Given the description of an element on the screen output the (x, y) to click on. 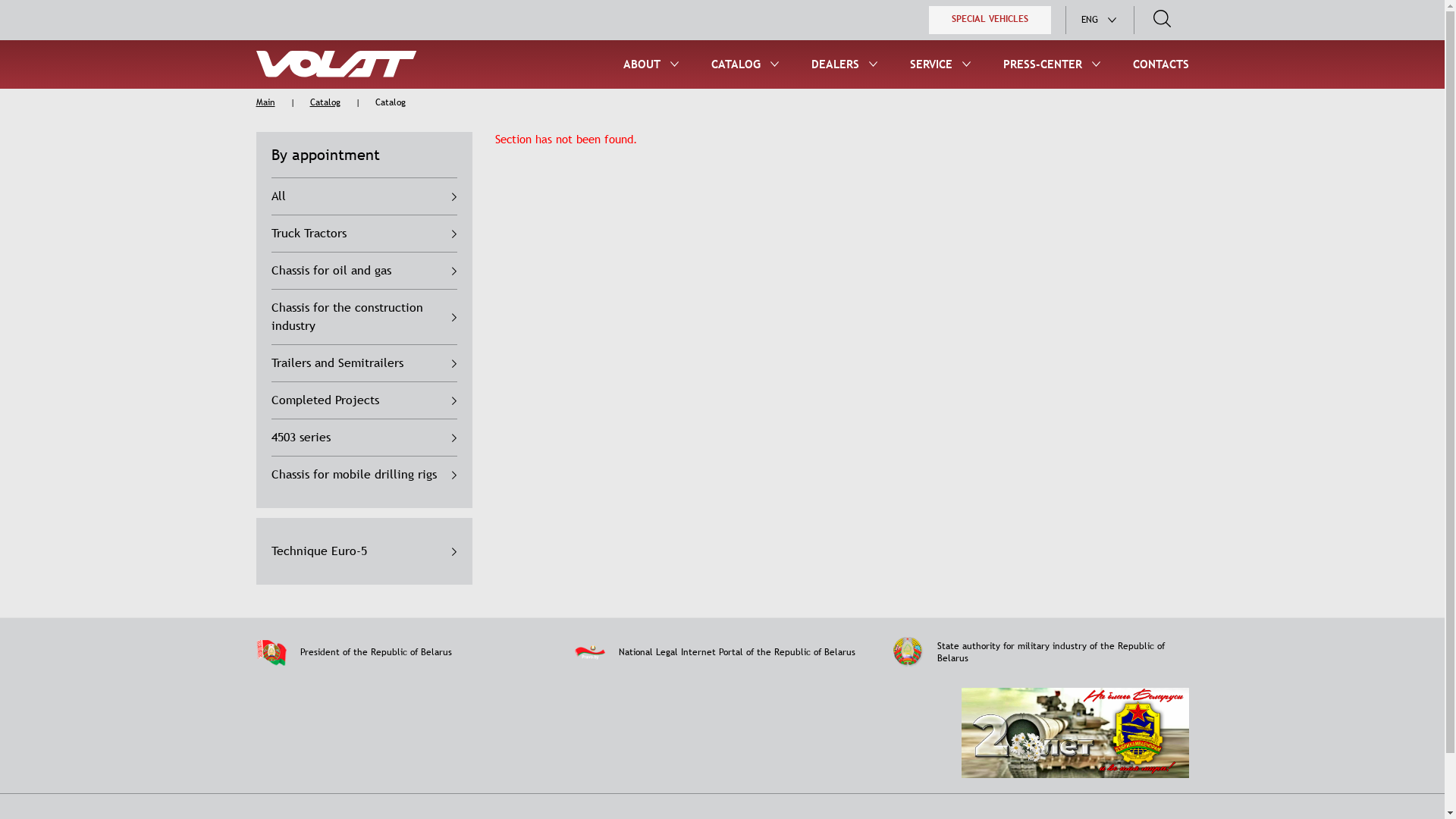
Truck Tractors Element type: text (364, 233)
SPECIAL VEHICLES Element type: text (989, 20)
Main Element type: text (265, 102)
Trailers and Semitrailers Element type: text (364, 363)
President of the Republic of Belarus Element type: text (404, 652)
4503 series Element type: text (364, 437)
Chassis for mobile drilling rigs Element type: text (364, 474)
Chassis for the construction industry Element type: text (364, 317)
DEALERS Element type: text (835, 63)
Completed Projects Element type: text (364, 400)
SERVICE Element type: text (931, 63)
CATALOG Element type: text (735, 63)
banner-20gvpk.png Element type: hover (1075, 732)
Catalog Element type: text (324, 102)
PRESS-CENTER Element type: text (1041, 63)
All Element type: text (364, 196)
Chassis for oil and gas Element type: text (364, 270)
Technique Euro-5 Element type: text (364, 551)
National Legal Internet Portal of the Republic of Belarus Element type: text (722, 652)
ABOUT Element type: text (641, 63)
CONTACTS Element type: text (1160, 63)
